Given the description of an element on the screen output the (x, y) to click on. 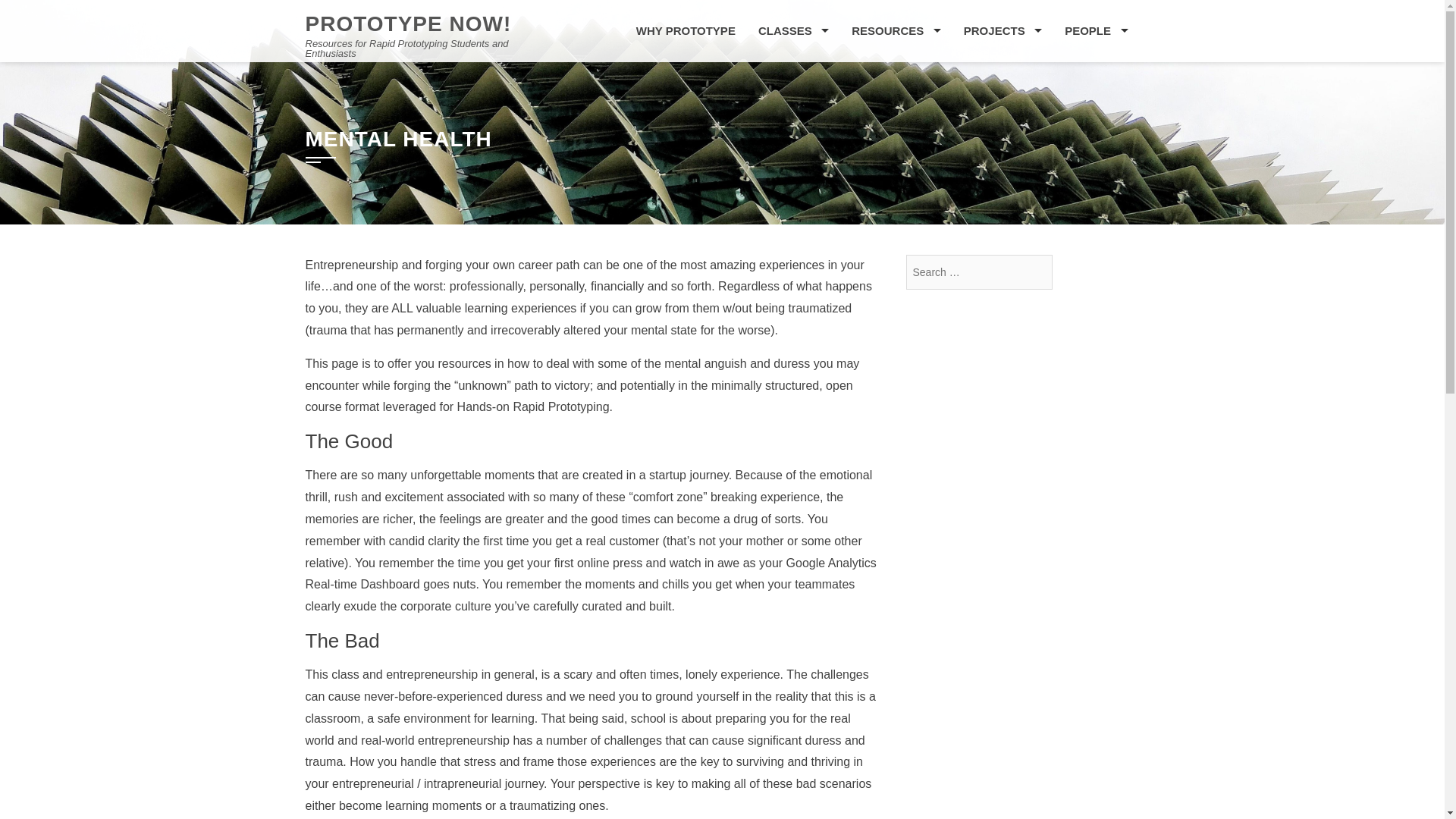
WHY PROTOTYPE (685, 31)
CLASSES (793, 31)
PROTOTYPE NOW! (407, 24)
